Given the description of an element on the screen output the (x, y) to click on. 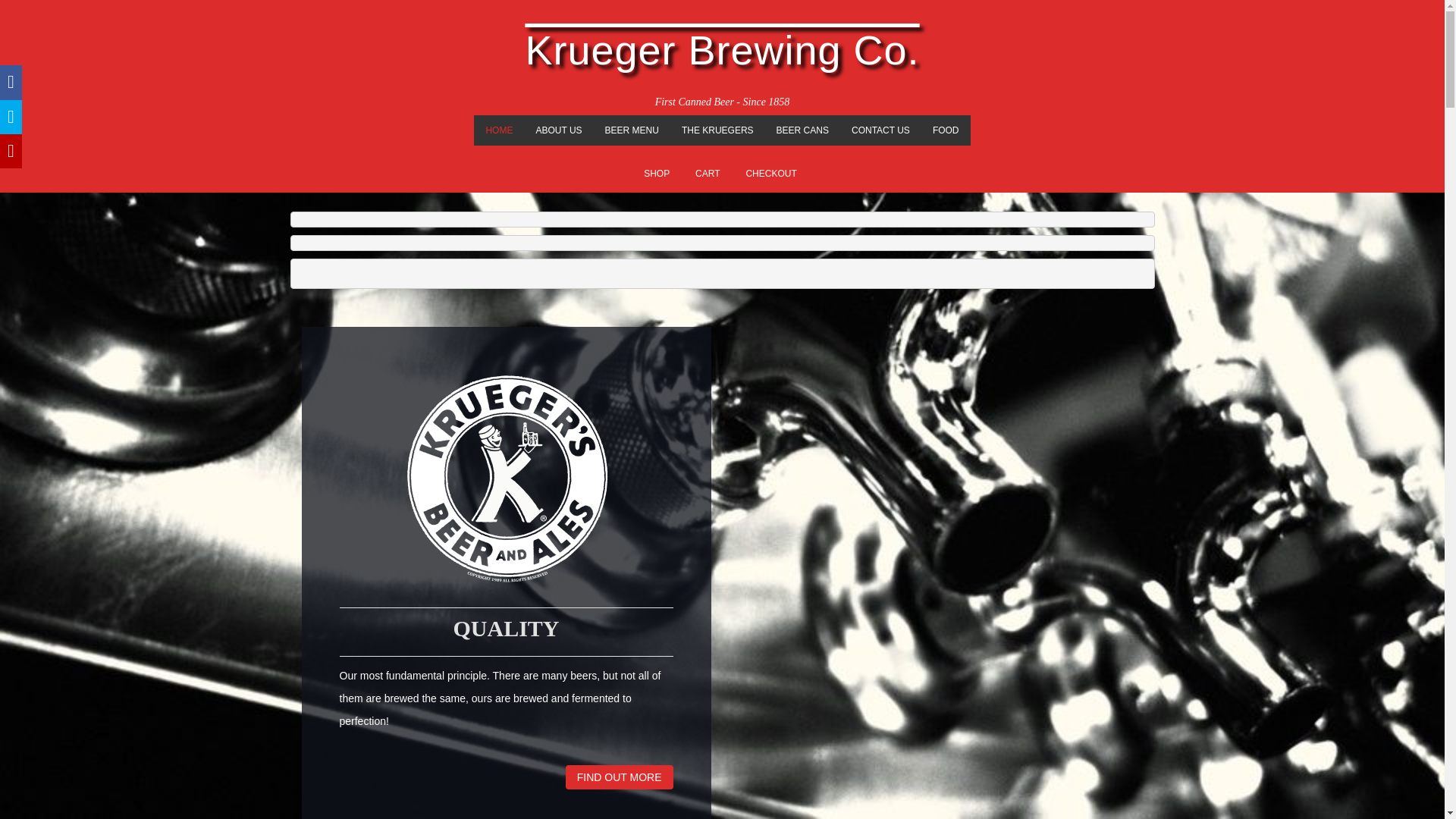
Beer Cans kegs (802, 130)
Krueger Brewing Co. (721, 49)
THE KRUEGERS (717, 130)
CONTACT US (880, 130)
HOME (499, 130)
CHECKOUT (770, 173)
CART (706, 173)
ABOUT US (558, 130)
BEER MENU (631, 130)
SHOP (656, 173)
